Given the description of an element on the screen output the (x, y) to click on. 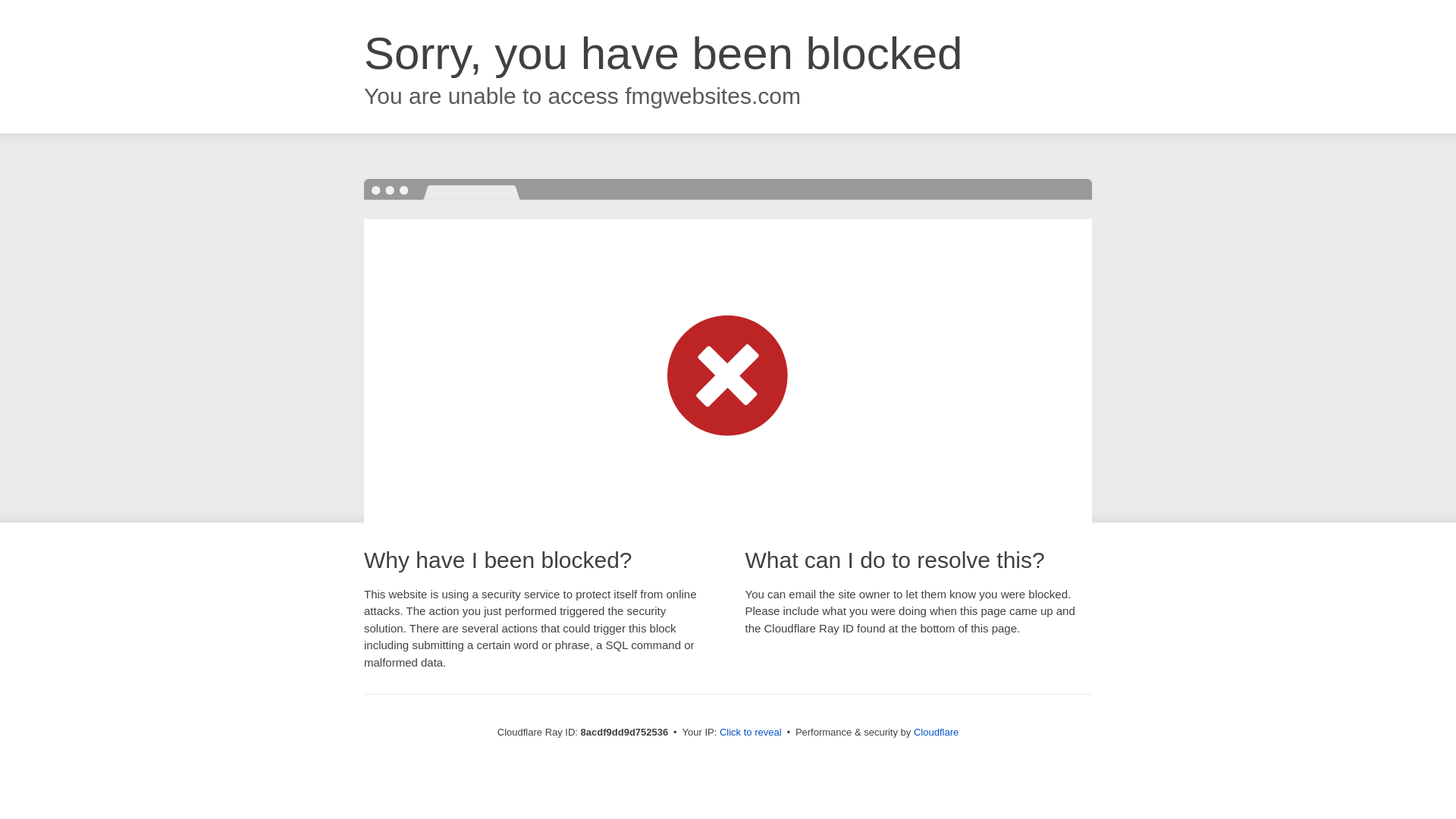
Click to reveal (750, 732)
Cloudflare (936, 731)
